Given the description of an element on the screen output the (x, y) to click on. 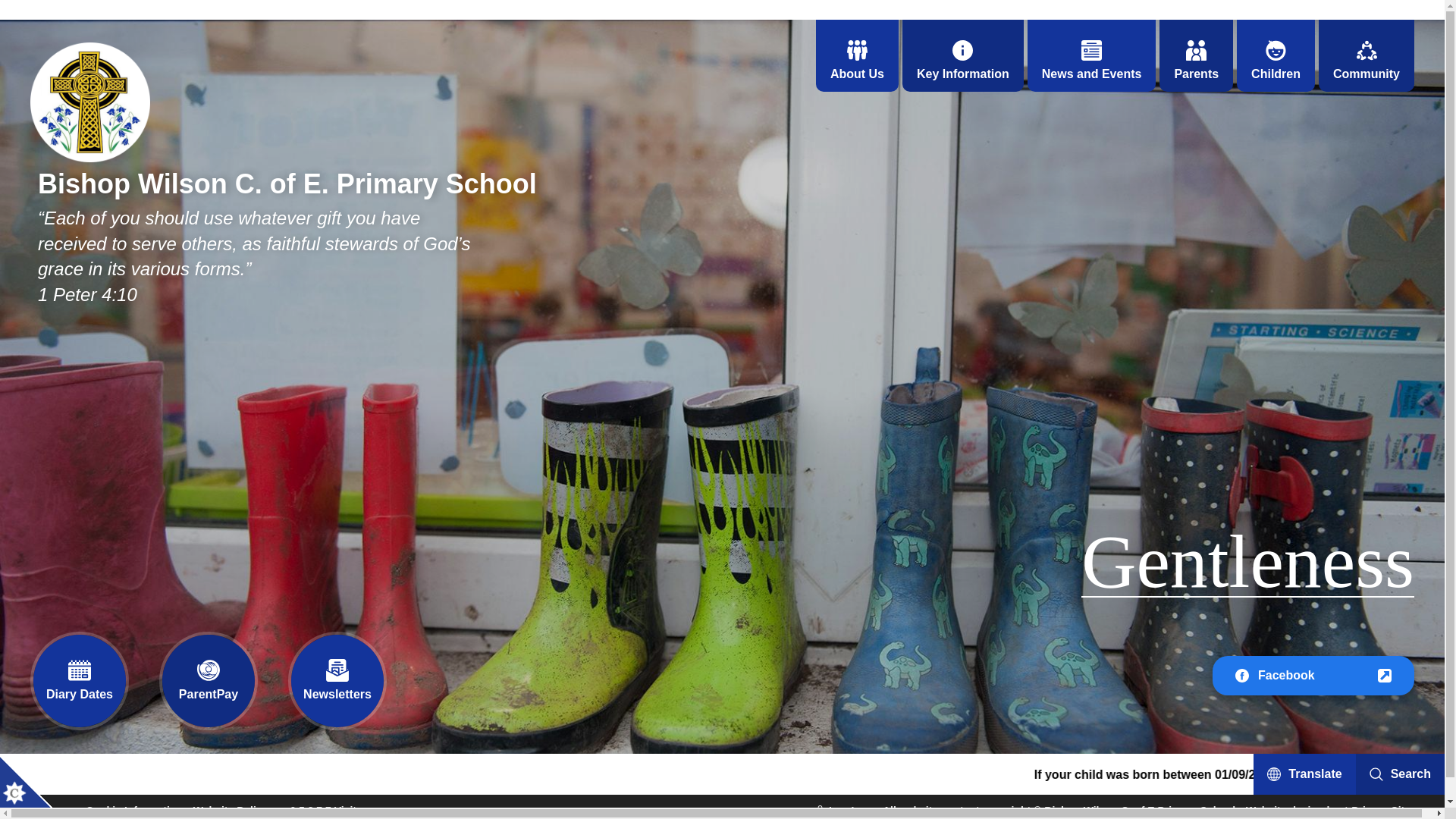
About Us (856, 55)
Key Information (962, 55)
Home Page (89, 102)
News and Events (1091, 55)
